Given the description of an element on the screen output the (x, y) to click on. 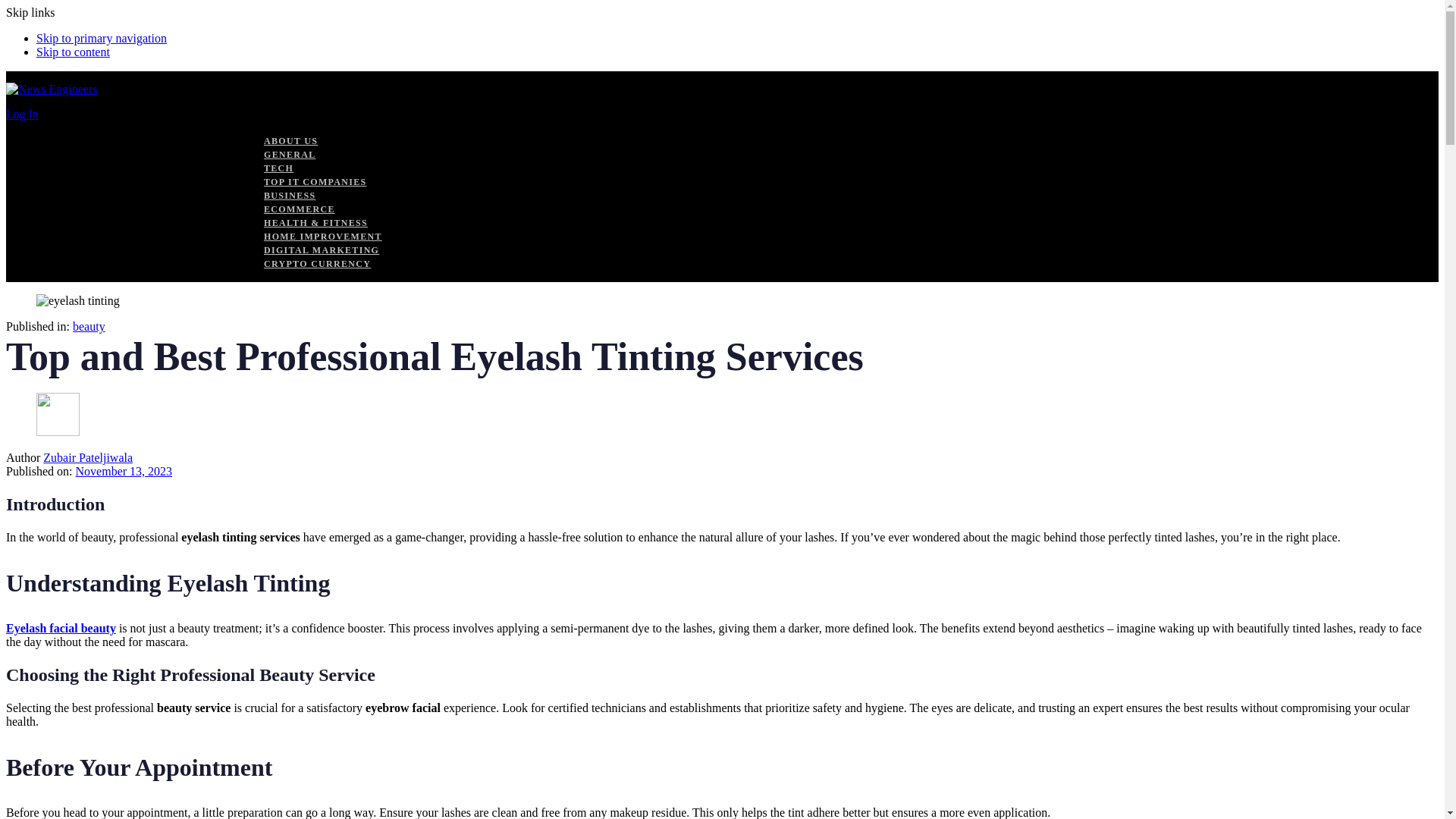
DIGITAL MARKETING (320, 249)
BUSINESS (289, 195)
November 13, 2023 (124, 471)
ECOMMERCE (298, 208)
TOP IT COMPANIES (314, 181)
Skip to content (73, 51)
HOME IMPROVEMENT (322, 235)
Skip to primary navigation (101, 38)
CRYPTO CURRENCY (317, 263)
beauty (88, 326)
ABOUT US (290, 140)
GENERAL (289, 154)
Zubair Pateljiwala (87, 457)
TECH (278, 167)
Posts by Zubair Pateljiwala (87, 457)
